Given the description of an element on the screen output the (x, y) to click on. 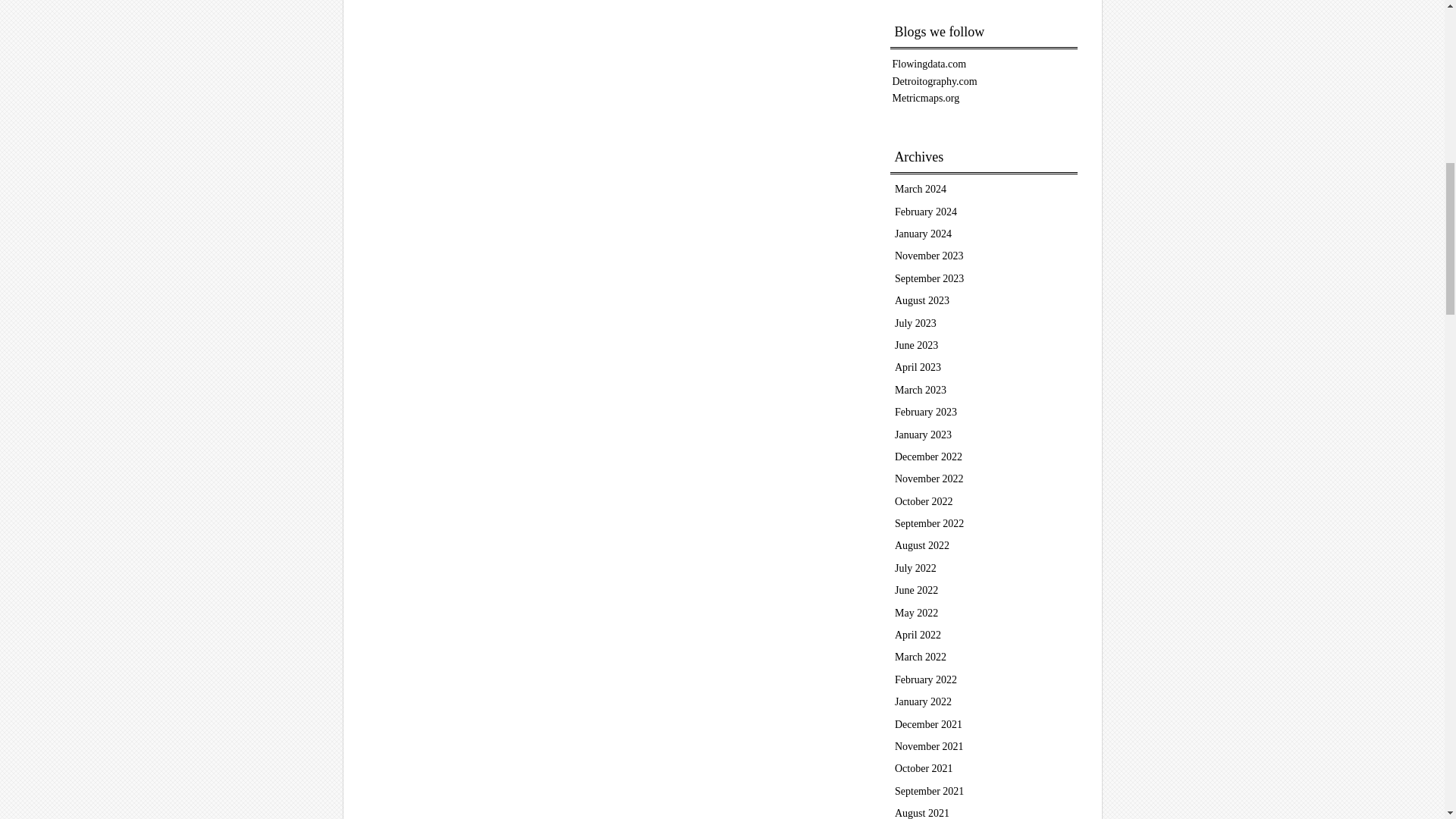
January 2024 (923, 233)
March 2024 (920, 188)
November 2023 (929, 255)
February 2024 (925, 211)
